Given the description of an element on the screen output the (x, y) to click on. 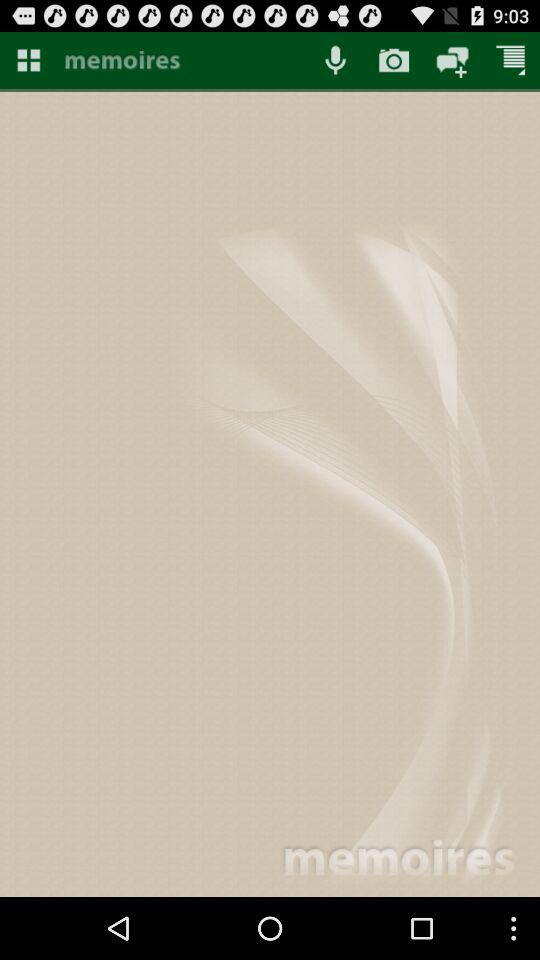
begin recording (335, 60)
